Given the description of an element on the screen output the (x, y) to click on. 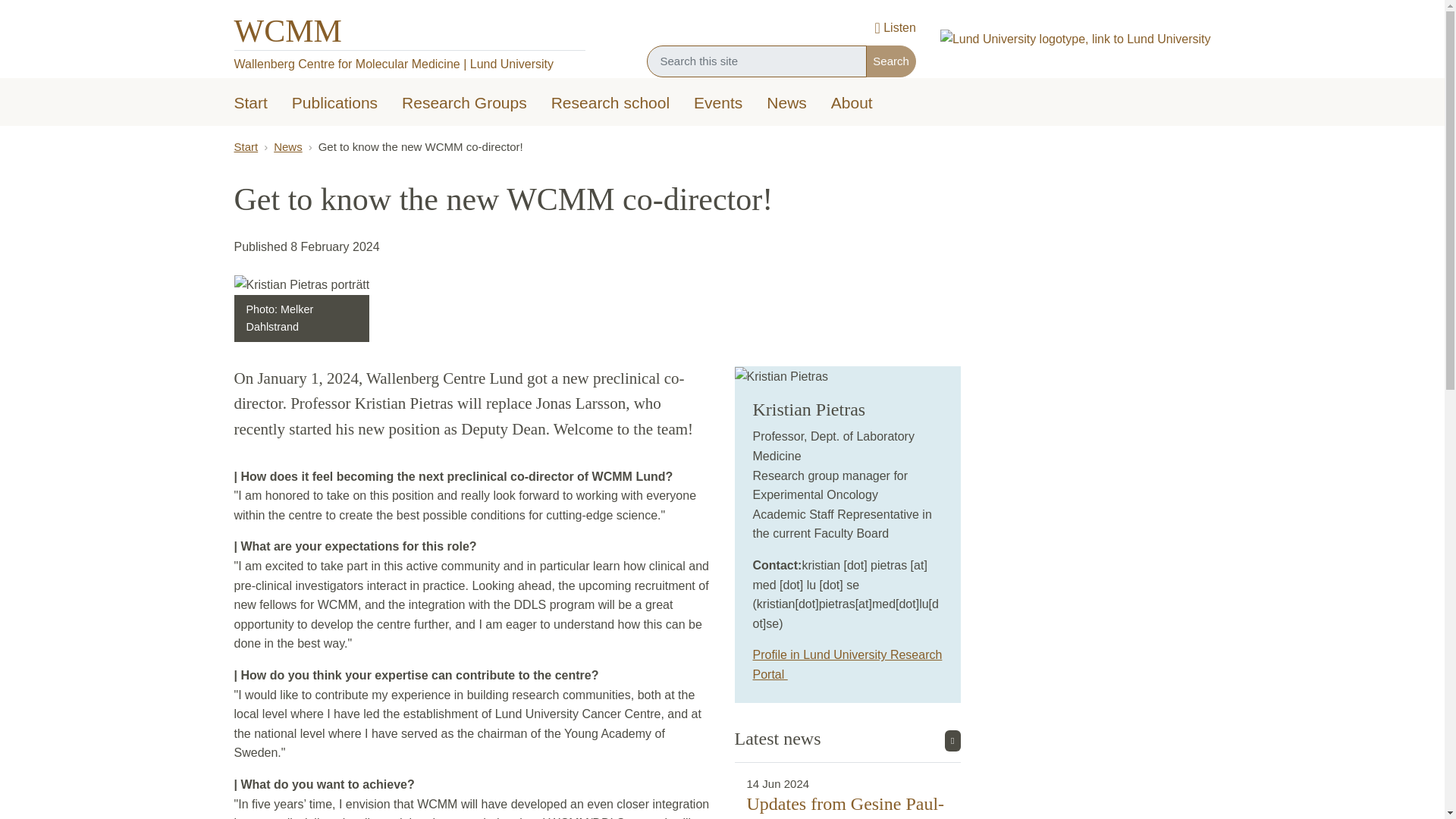
News (786, 103)
WCMM (286, 30)
Listen (895, 28)
Research school (609, 103)
Start (250, 103)
Events (717, 103)
Research Groups (464, 103)
Search (890, 60)
Publications (334, 103)
About (851, 103)
Search (890, 60)
